Given the description of an element on the screen output the (x, y) to click on. 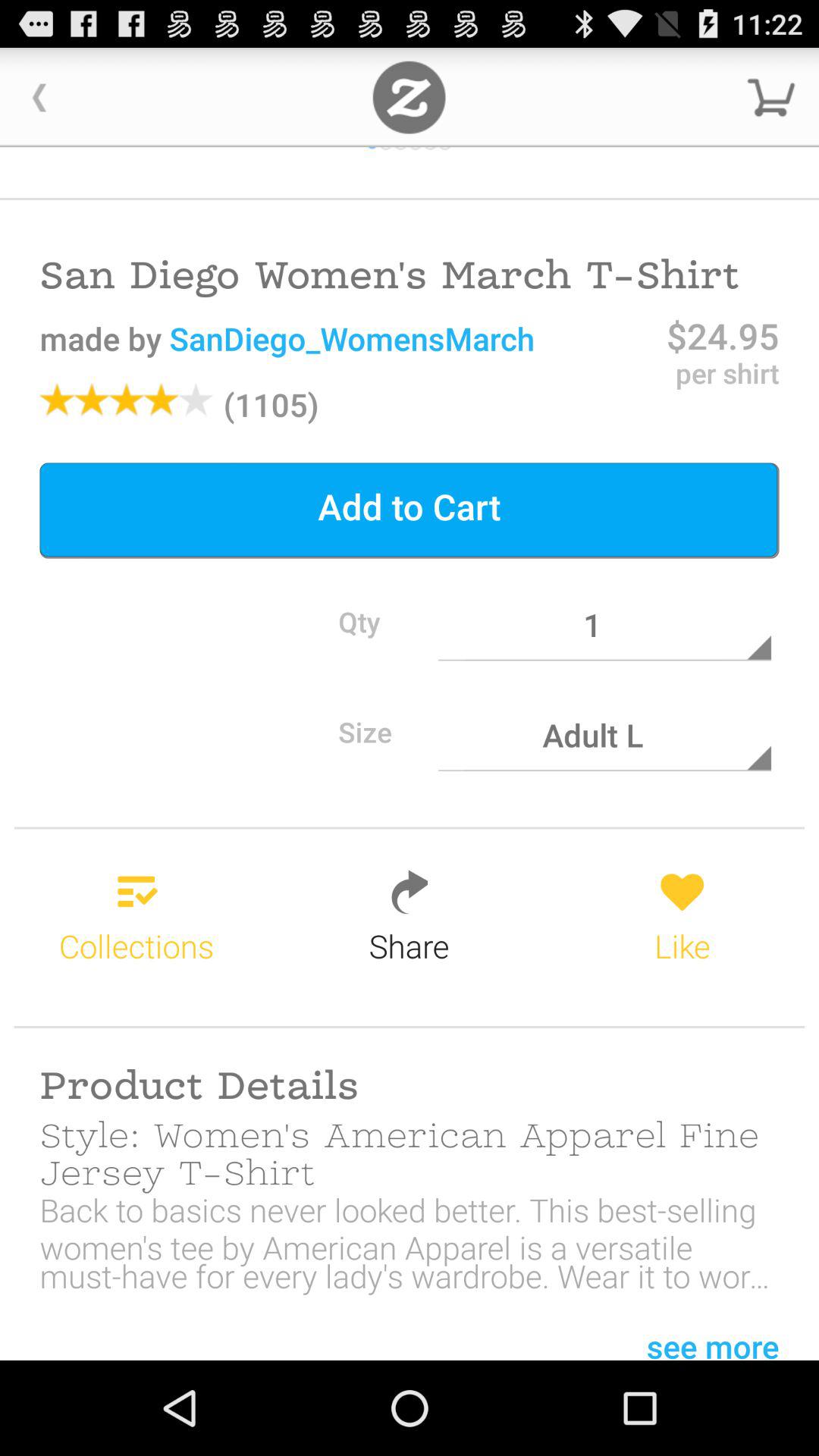
go back (39, 97)
